Given the description of an element on the screen output the (x, y) to click on. 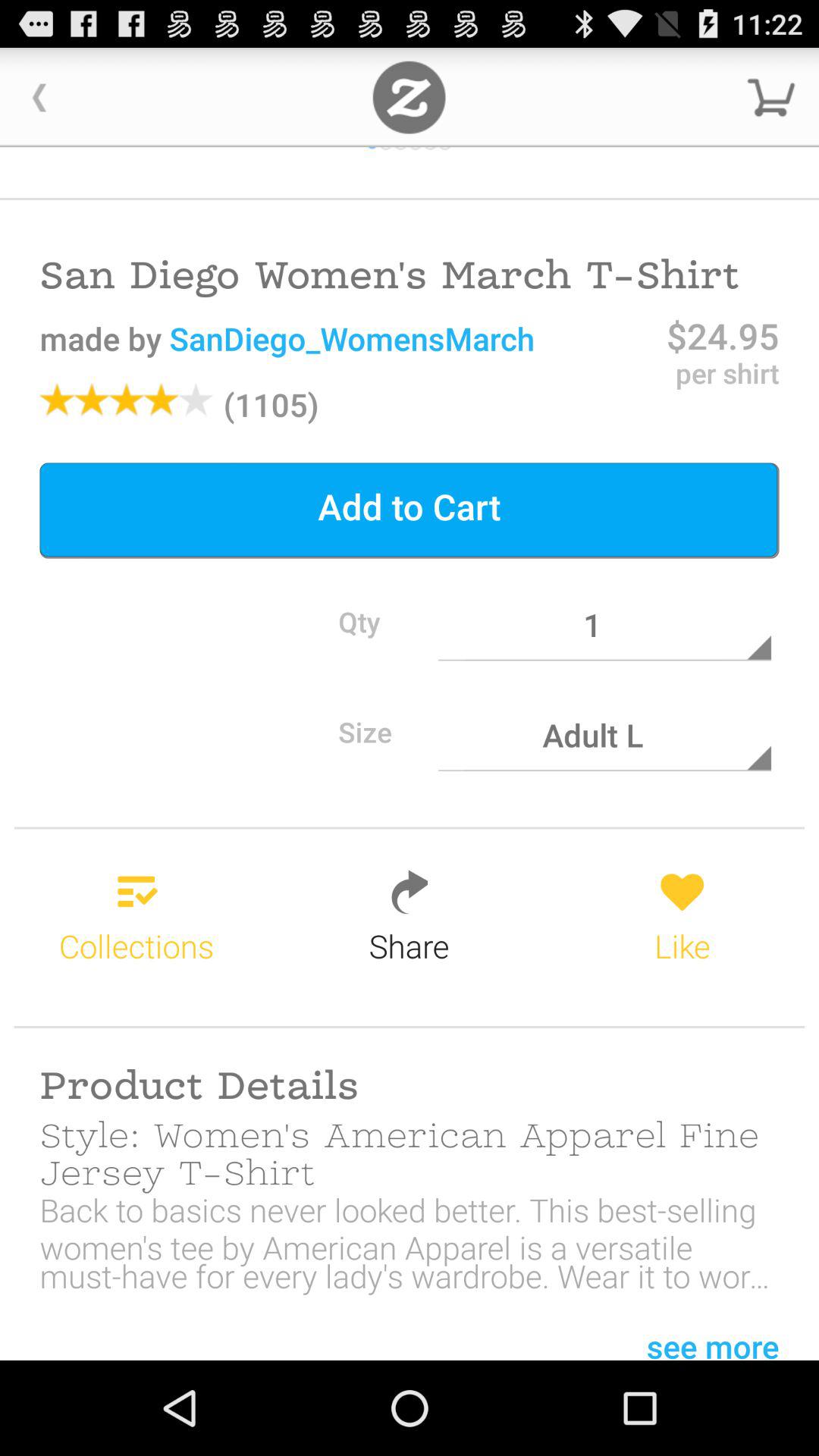
go back (39, 97)
